Given the description of an element on the screen output the (x, y) to click on. 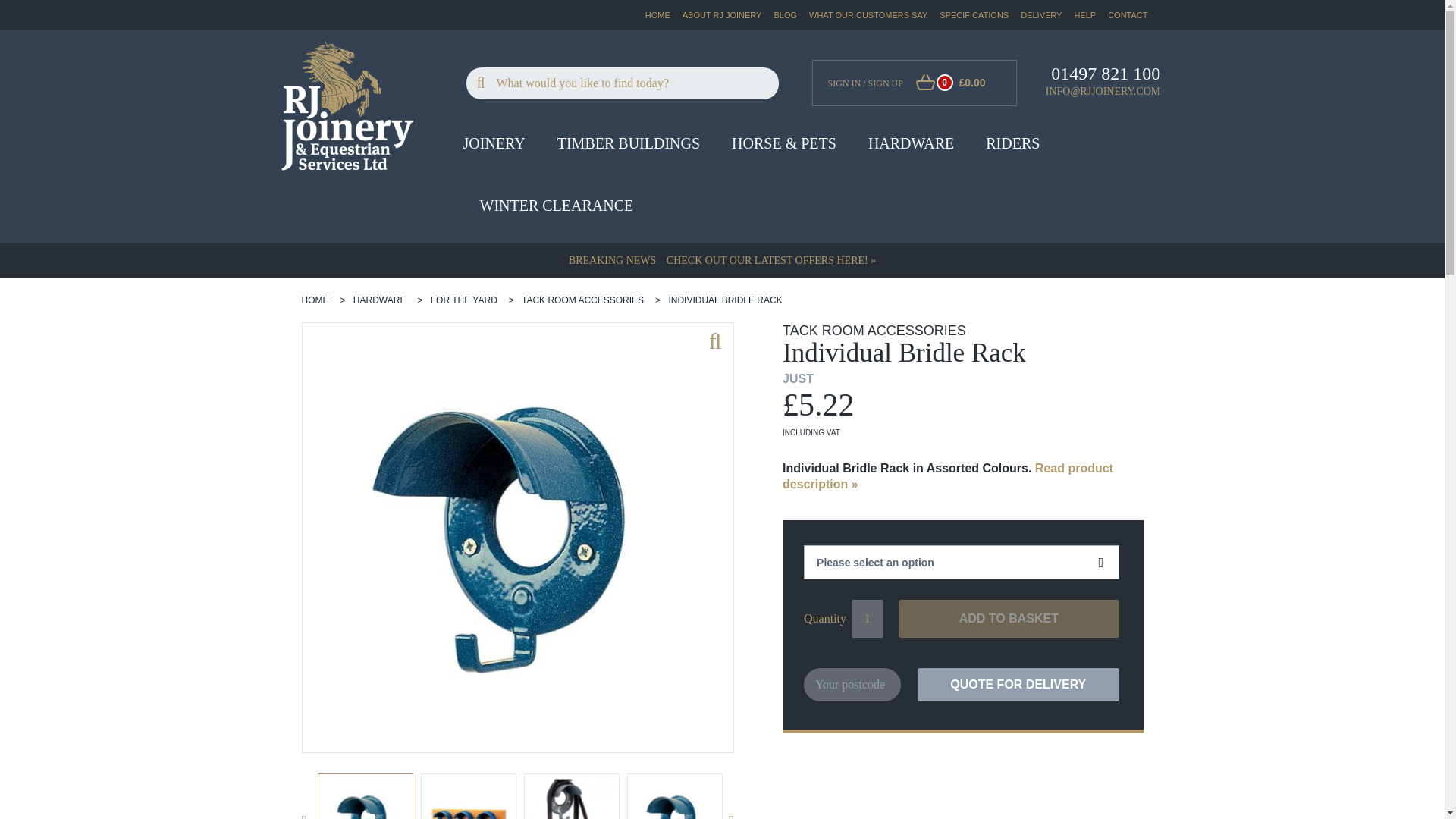
TIMBER BUILDINGS (628, 149)
ABOUT RJ JOINERY (721, 15)
DELIVERY (1040, 15)
CONTACT (1127, 15)
01497 821 100 (1105, 73)
SPECIFICATIONS (974, 15)
BLOG (784, 15)
SIGN UP (884, 82)
JOINERY (493, 149)
HOME (657, 15)
WHAT OUR CUSTOMERS SAY (868, 15)
HELP (1085, 15)
SIGN IN (844, 82)
